Given the description of an element on the screen output the (x, y) to click on. 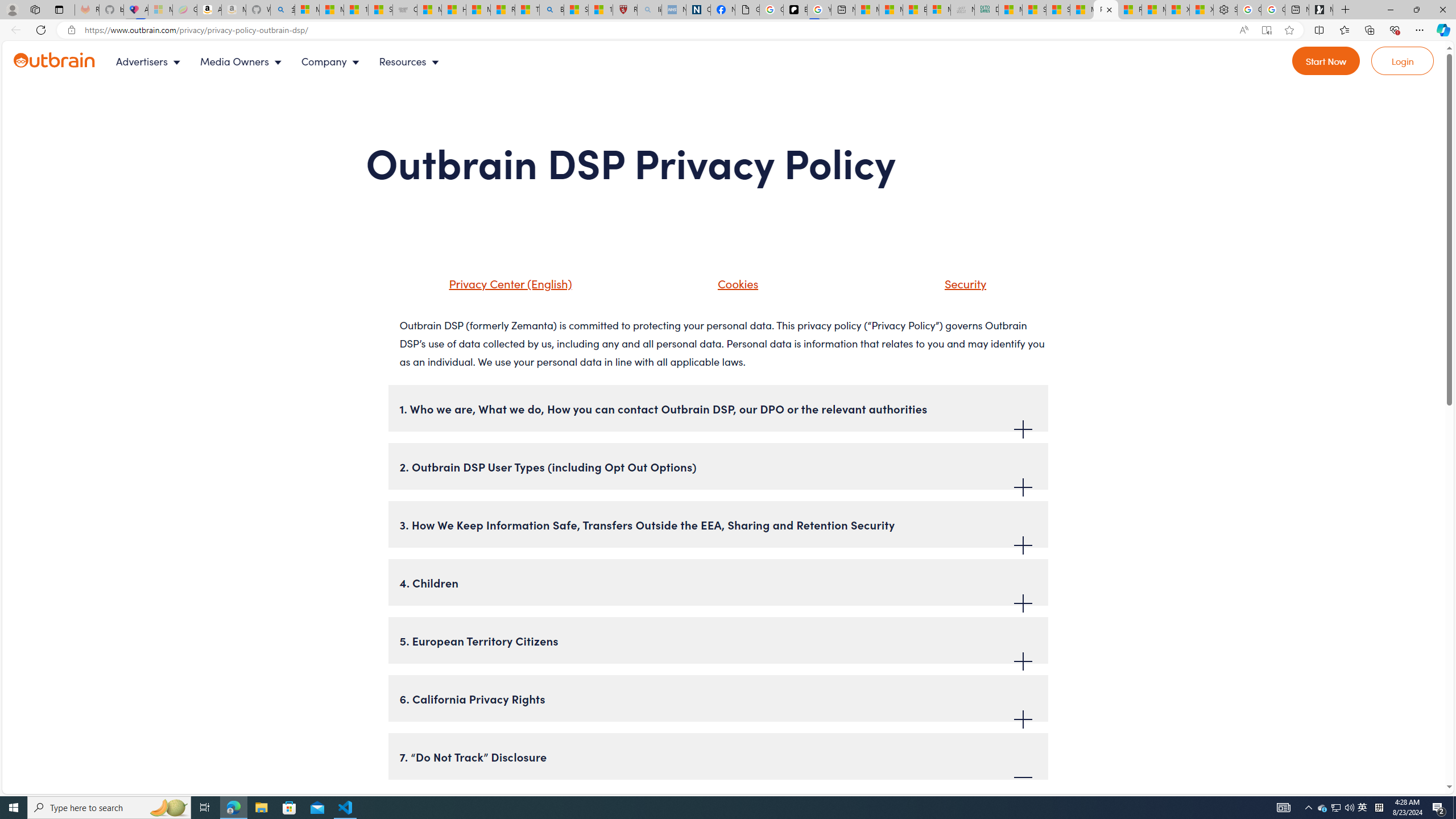
6. California Privacy Rights (717, 697)
Outbrain logo - link to homepage (54, 59)
5. European Territory Citizens (717, 639)
